Given the description of an element on the screen output the (x, y) to click on. 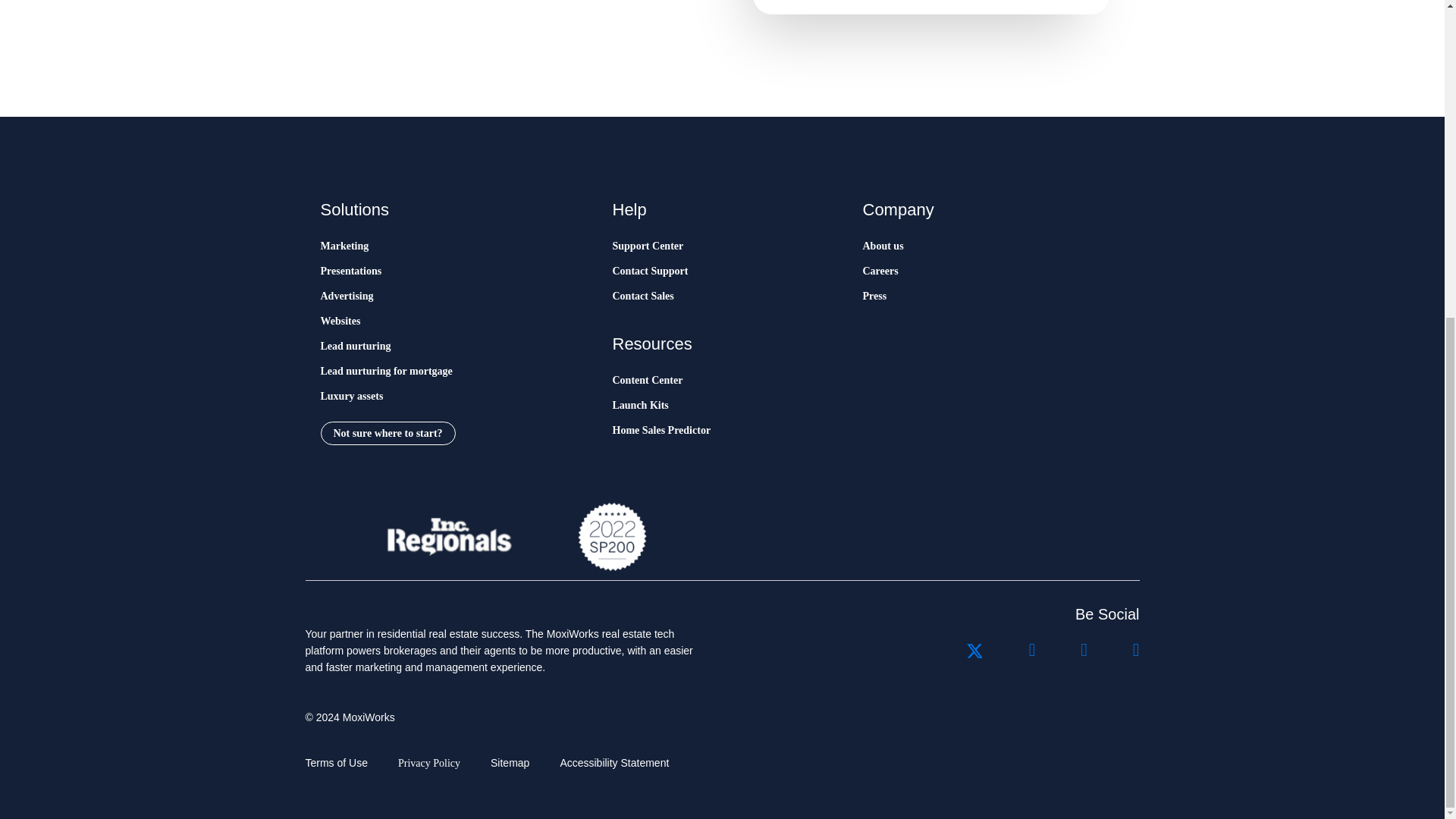
SP 2022 (612, 536)
